Given the description of an element on the screen output the (x, y) to click on. 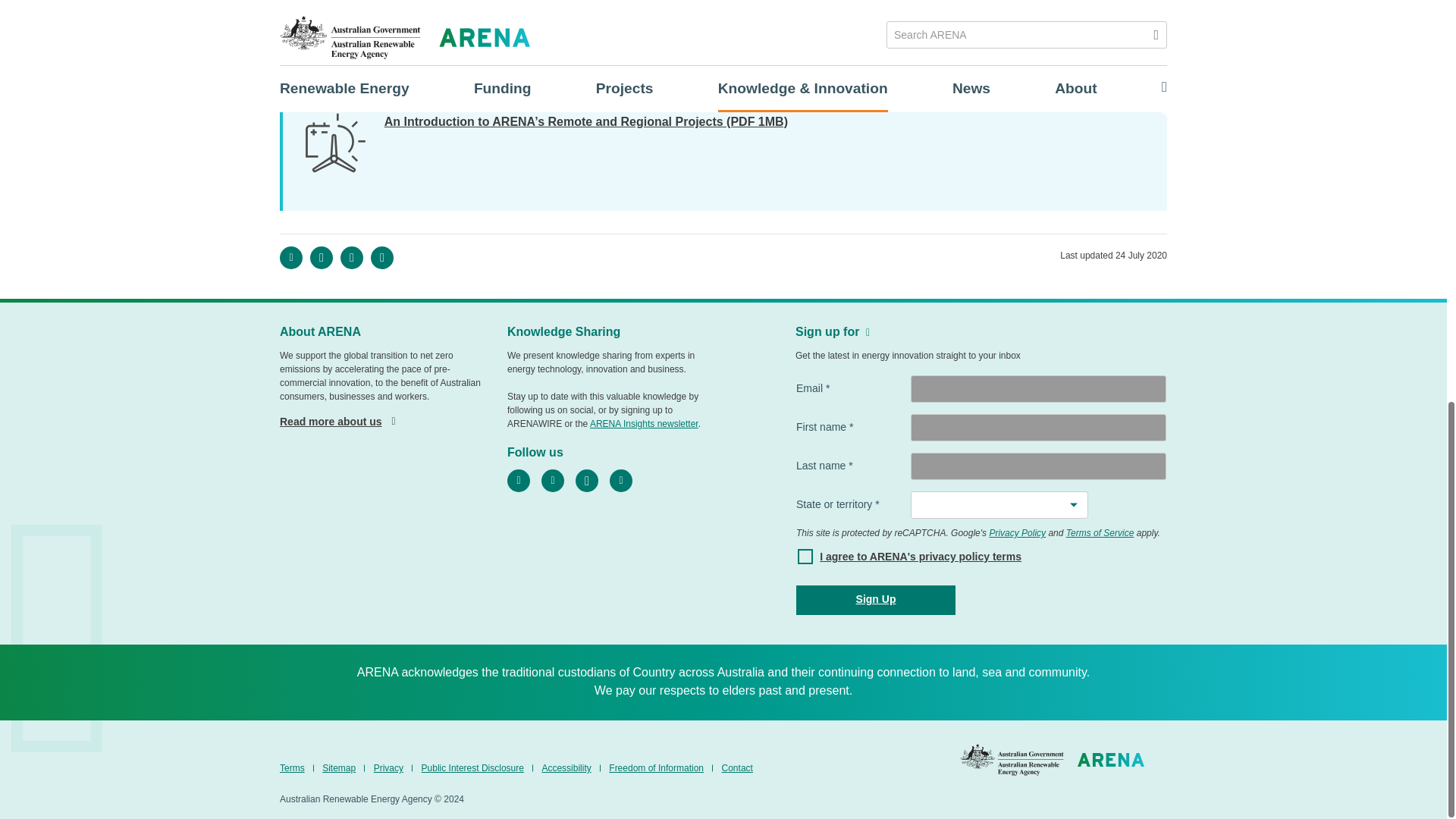
Sign Up (875, 600)
